Given the description of an element on the screen output the (x, y) to click on. 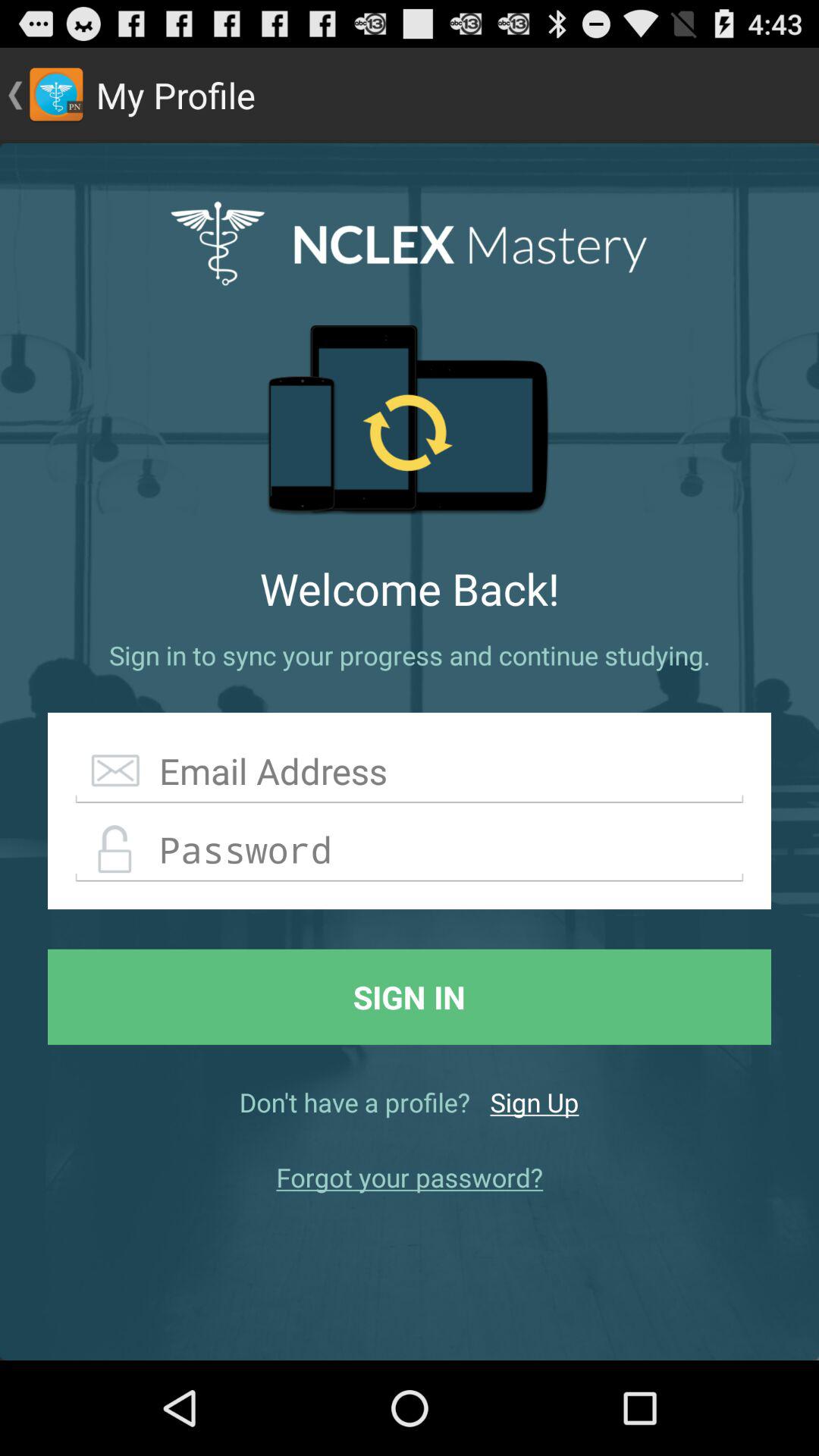
jump until forgot your password? item (409, 1176)
